Given the description of an element on the screen output the (x, y) to click on. 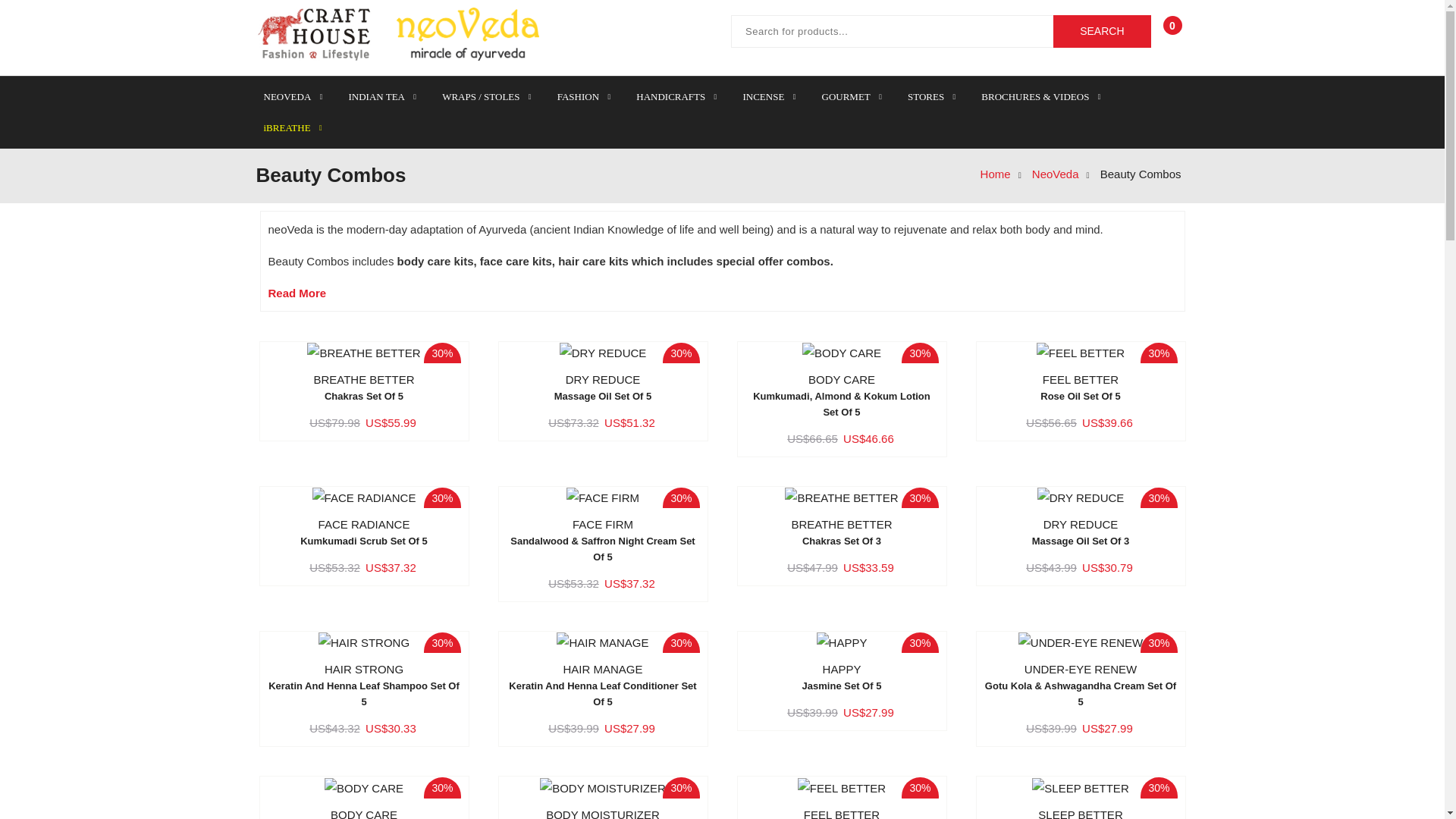
DRY REDUCE  (1080, 533)
FACE RADIANCE (364, 497)
FEEL BETTER (1080, 388)
FEEL BETTER (1080, 353)
HAIR MANAGE (603, 686)
BREATHE BETTER (363, 353)
Search (1101, 31)
DRY REDUCE  (602, 353)
FACE RADIANCE (363, 533)
DRY REDUCE  (1080, 497)
